Given the description of an element on the screen output the (x, y) to click on. 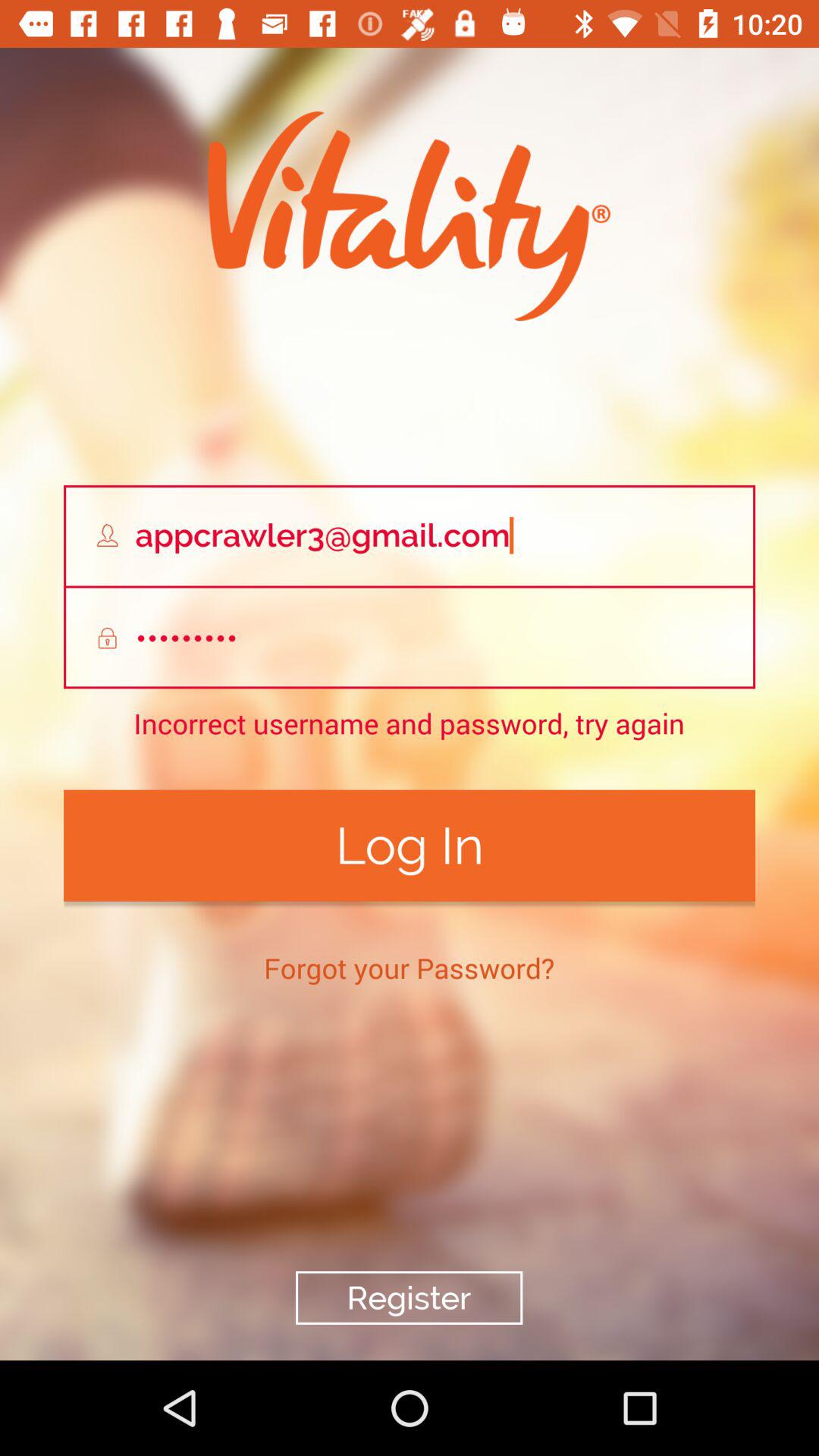
press forgot your password? (408, 967)
